Given the description of an element on the screen output the (x, y) to click on. 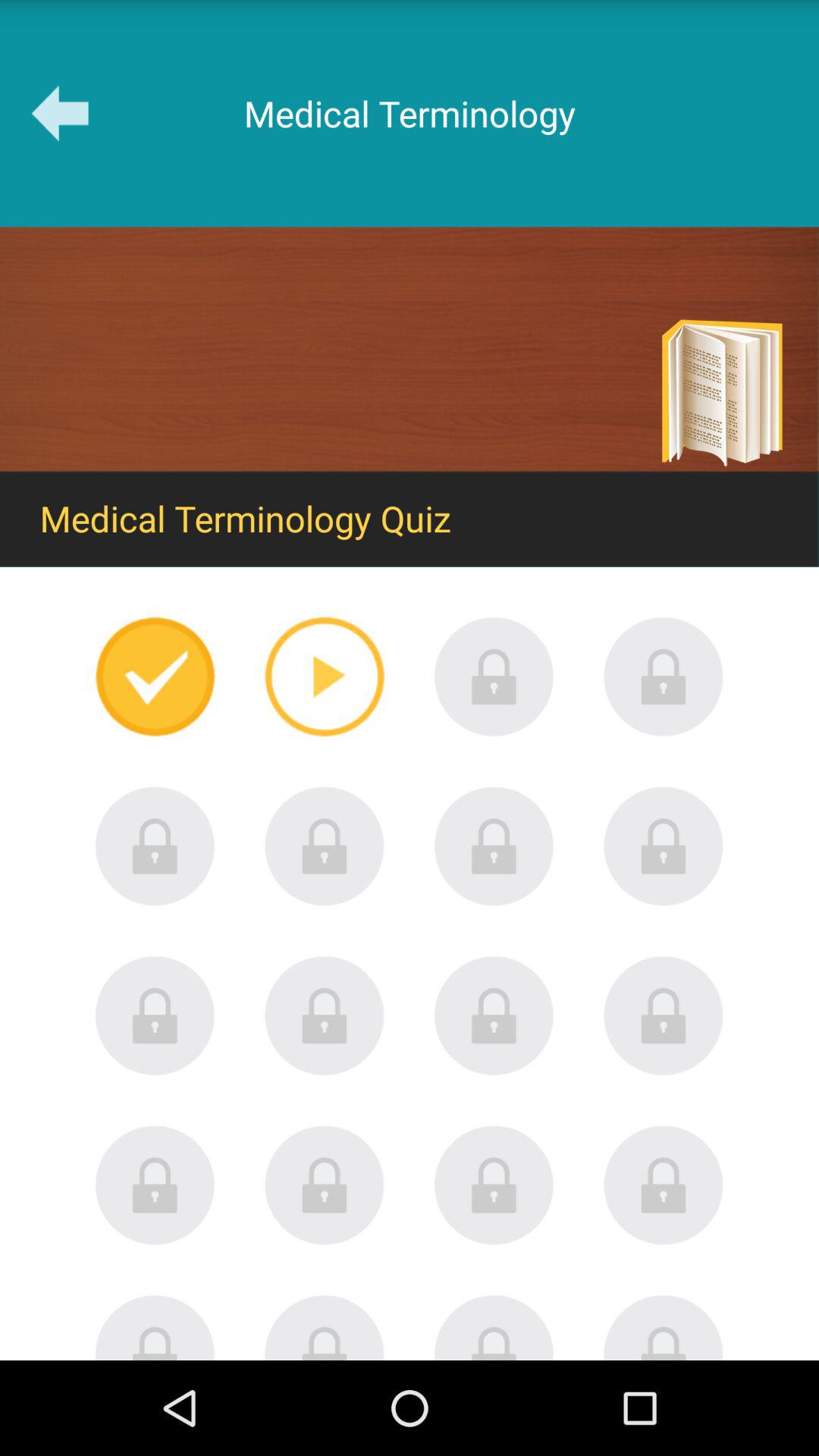
go to quiz (493, 1015)
